Given the description of an element on the screen output the (x, y) to click on. 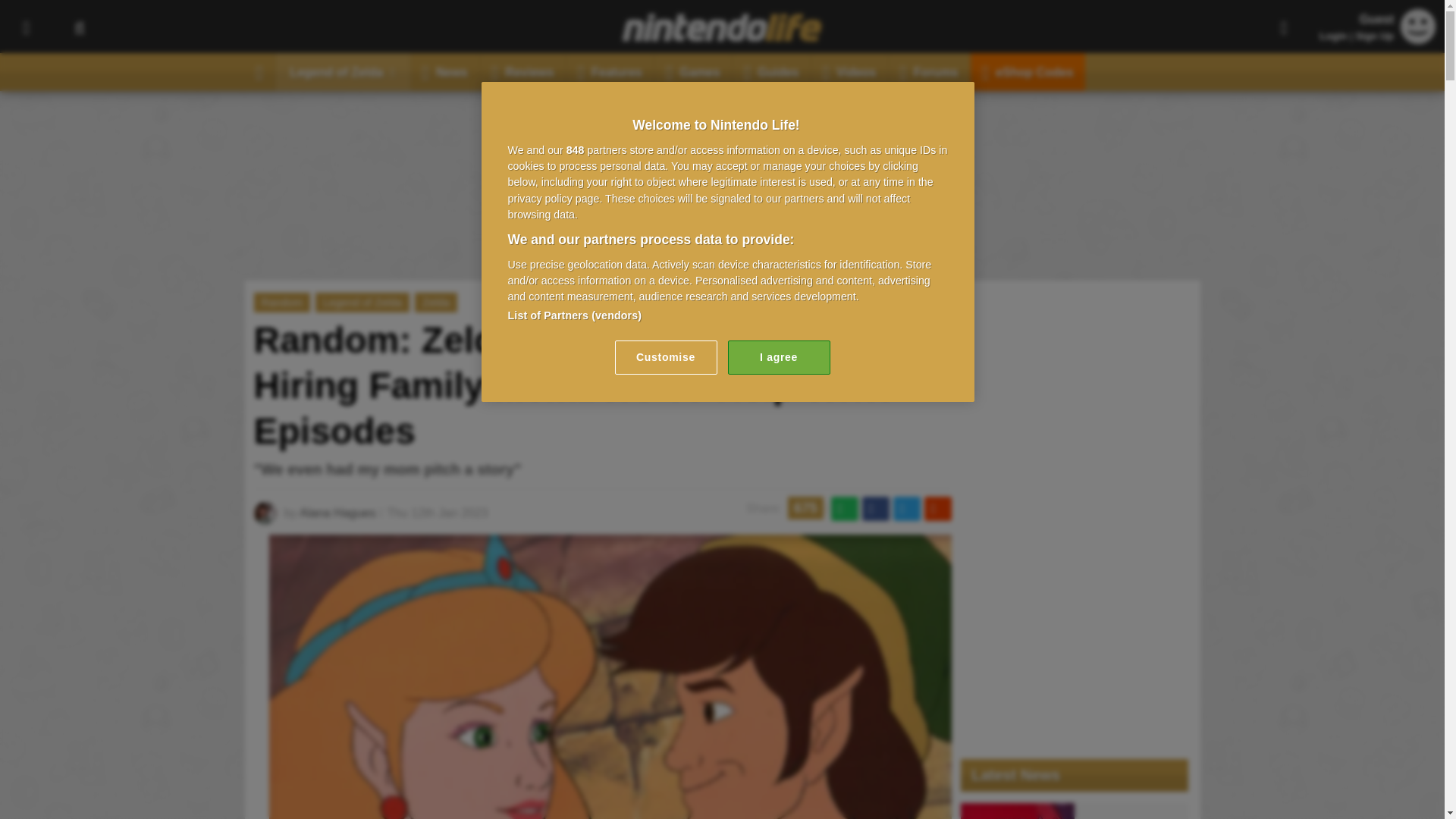
Sign Up (1374, 35)
Features (609, 71)
News (445, 71)
Topics (26, 26)
Forums (929, 71)
Guest (1417, 26)
Nintendo Life (721, 27)
Nintendo Life (721, 27)
Reviews (523, 71)
Share This Page (1283, 26)
Guest (1417, 39)
Search (79, 26)
Games (692, 71)
Login (1332, 35)
eShop Codes (1027, 71)
